Given the description of an element on the screen output the (x, y) to click on. 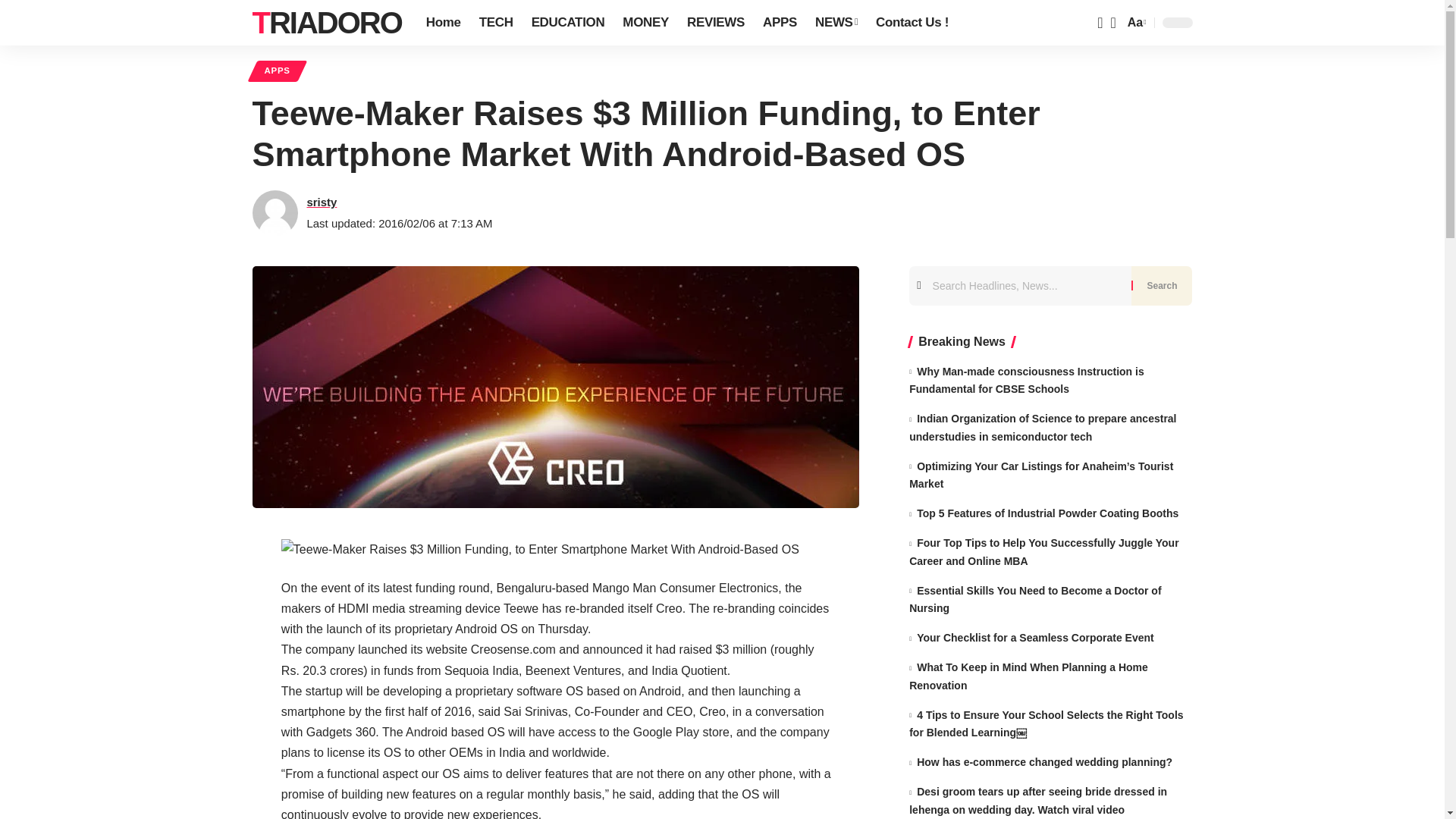
MONEY (645, 22)
Aa (1135, 22)
APPS (780, 22)
Search (1161, 284)
NEWS (836, 22)
EDUCATION (568, 22)
Contact Us ! (912, 22)
TECH (496, 22)
Home (443, 22)
Triadoro (326, 22)
